Given the description of an element on the screen output the (x, y) to click on. 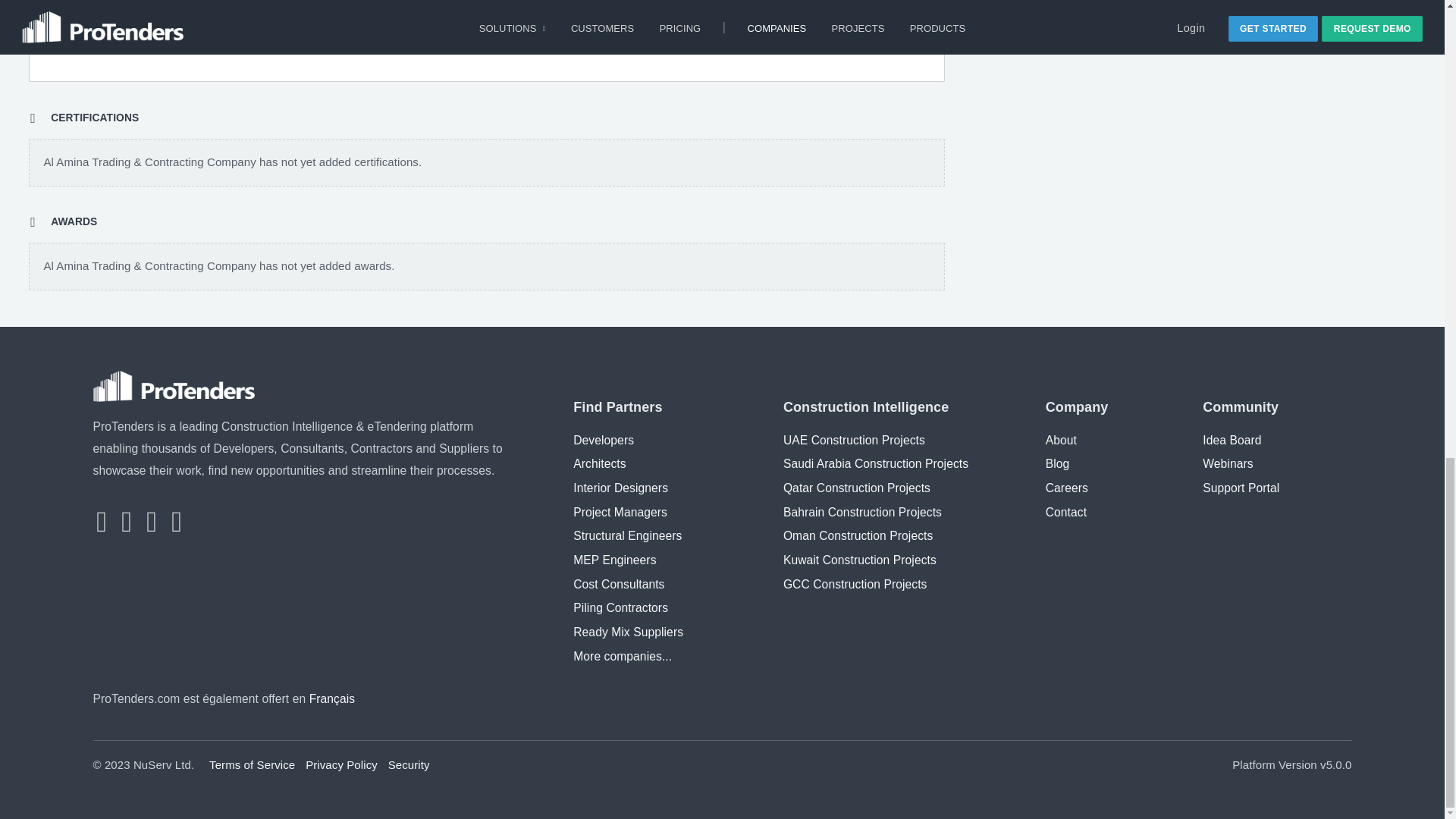
Protenders (175, 386)
